Given the description of an element on the screen output the (x, y) to click on. 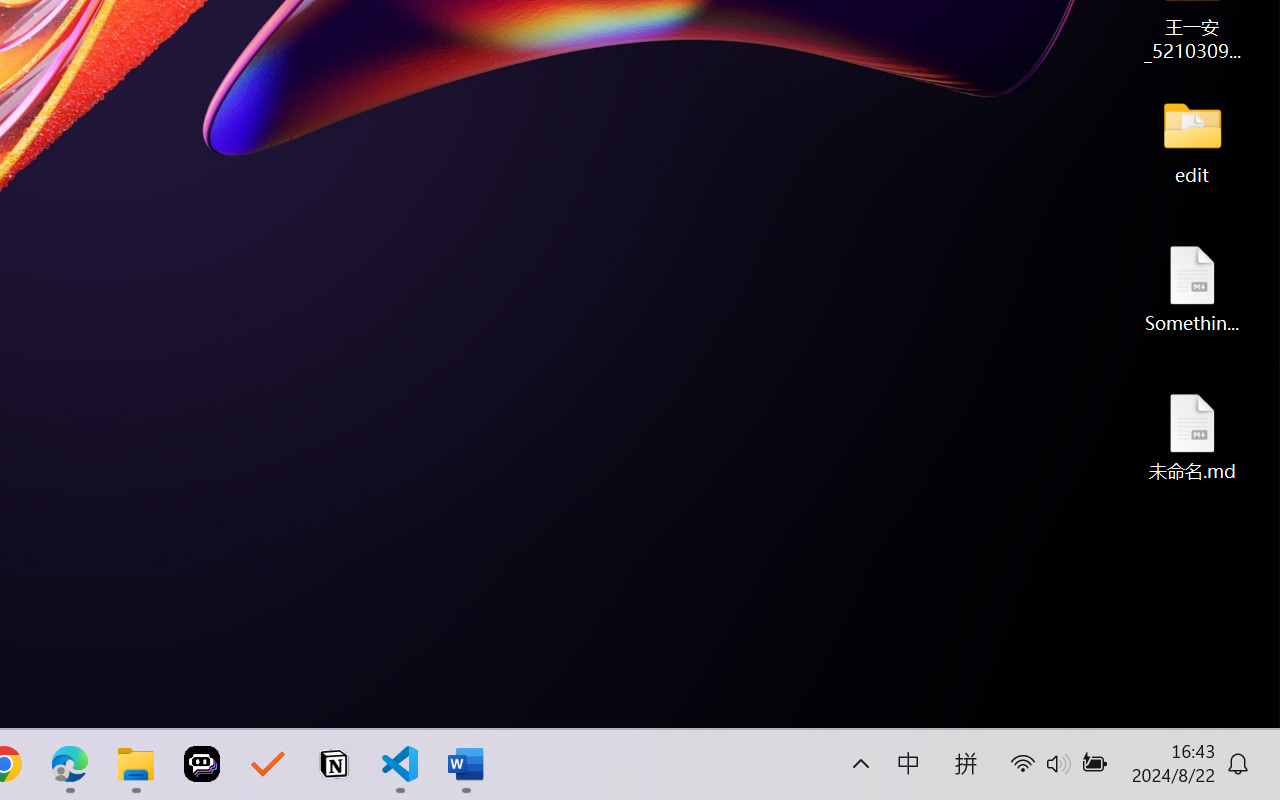
Something.md (1192, 288)
